Given the description of an element on the screen output the (x, y) to click on. 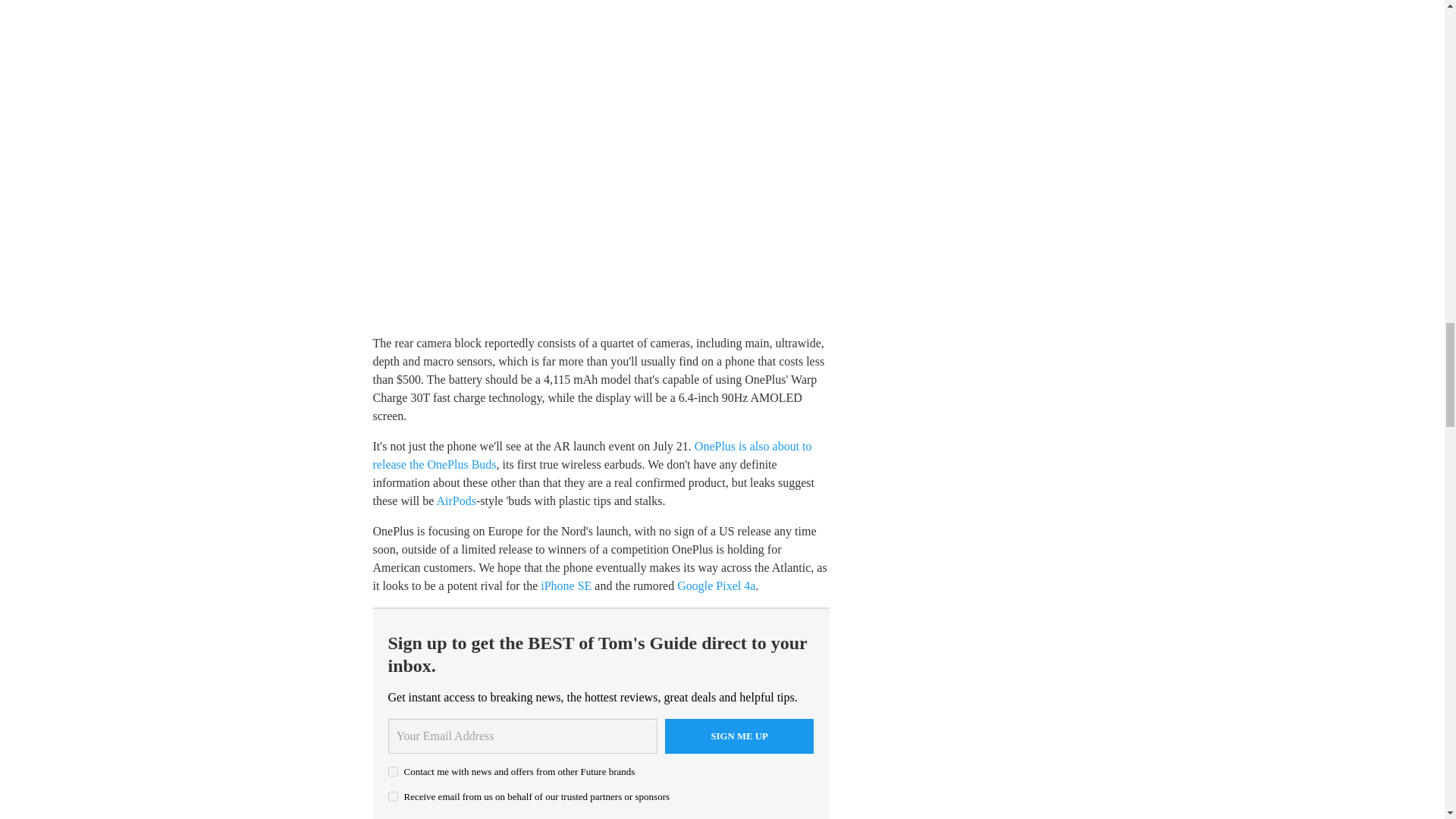
on (392, 796)
Sign me up (739, 736)
on (392, 771)
